Given the description of an element on the screen output the (x, y) to click on. 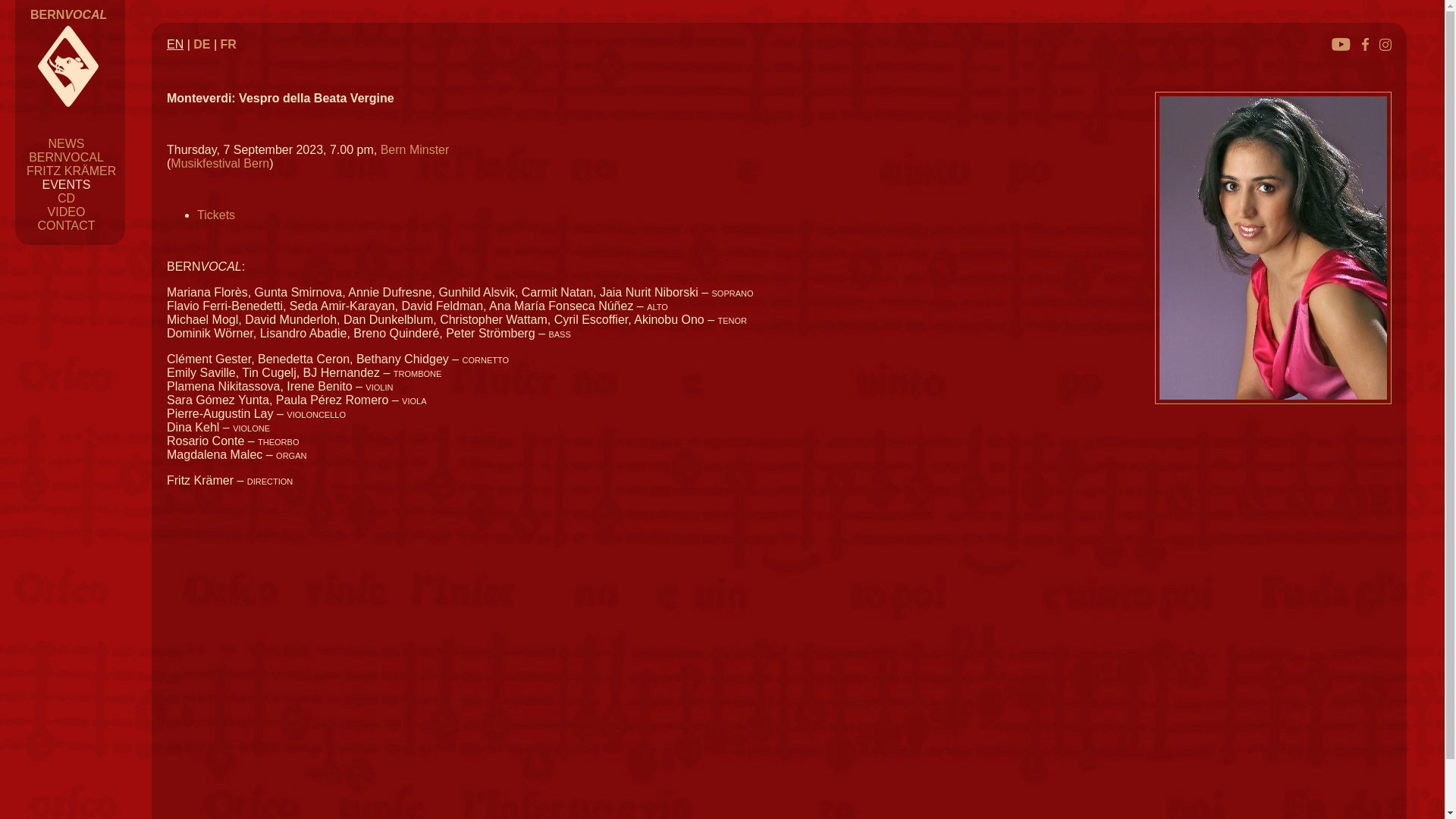
CONTACT Element type: text (65, 225)
VIDEO Element type: text (66, 211)
Bern Minster Element type: text (414, 149)
Musikfestival Bern Element type: text (219, 162)
Tickets Element type: text (216, 214)
DE Element type: text (201, 43)
EVENTS Element type: text (65, 184)
BERNVOCAL Element type: text (68, 14)
BERNVOCAL Element type: text (65, 156)
FR Element type: text (228, 43)
NEWS Element type: text (66, 143)
CD Element type: text (66, 197)
